Given the description of an element on the screen output the (x, y) to click on. 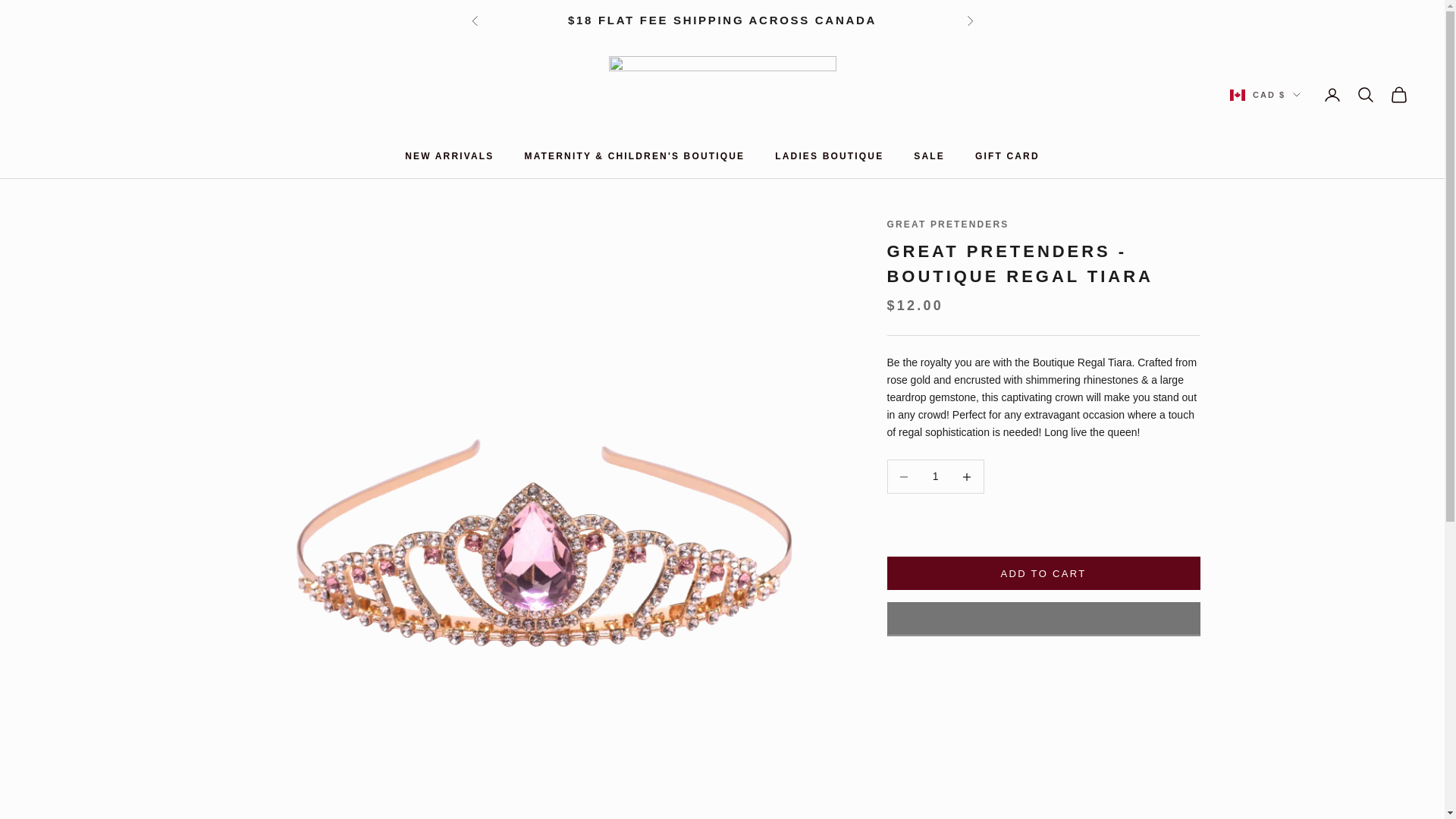
1 (935, 476)
Battleford Boutique (721, 95)
NEW ARRIVALS (448, 155)
